Given the description of an element on the screen output the (x, y) to click on. 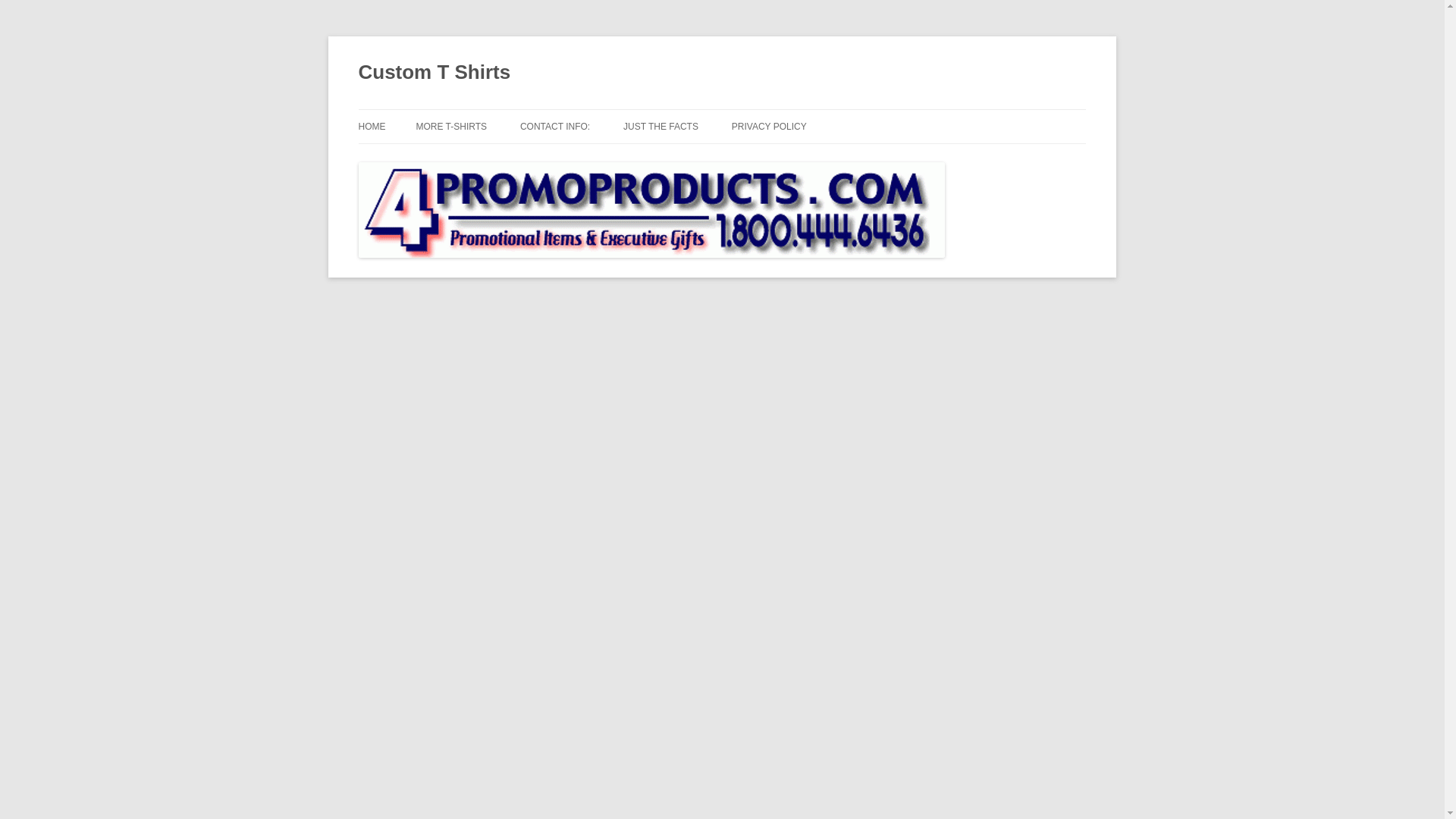
Custom T Shirts (434, 72)
PRIVACY POLICY (769, 126)
Custom T Shirts (434, 72)
MORE T-SHIRTS (450, 126)
CONTACT INFO: (554, 126)
JUST THE FACTS (660, 126)
HOME (371, 126)
